Given the description of an element on the screen output the (x, y) to click on. 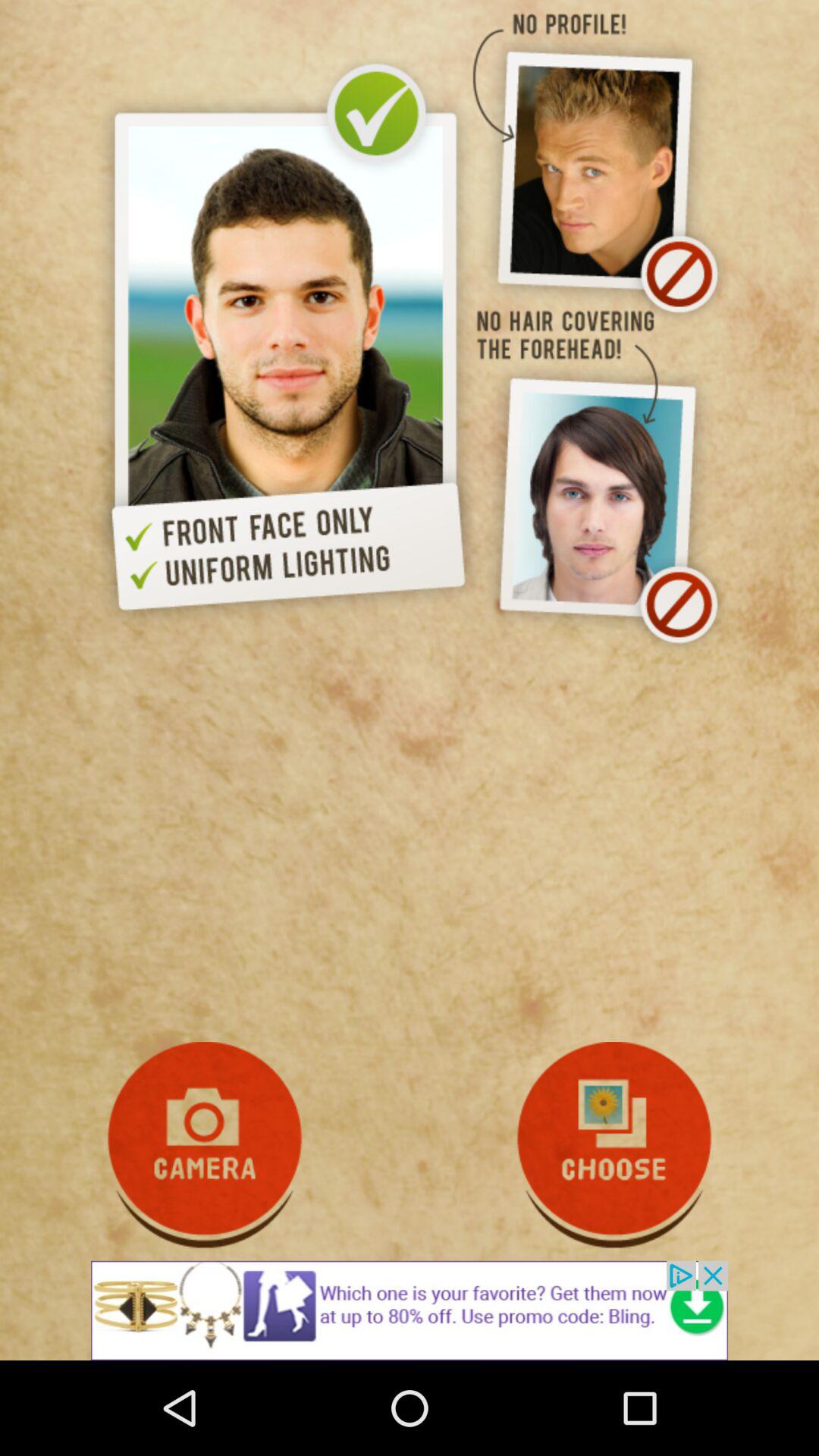
open camera (204, 1144)
